Given the description of an element on the screen output the (x, y) to click on. 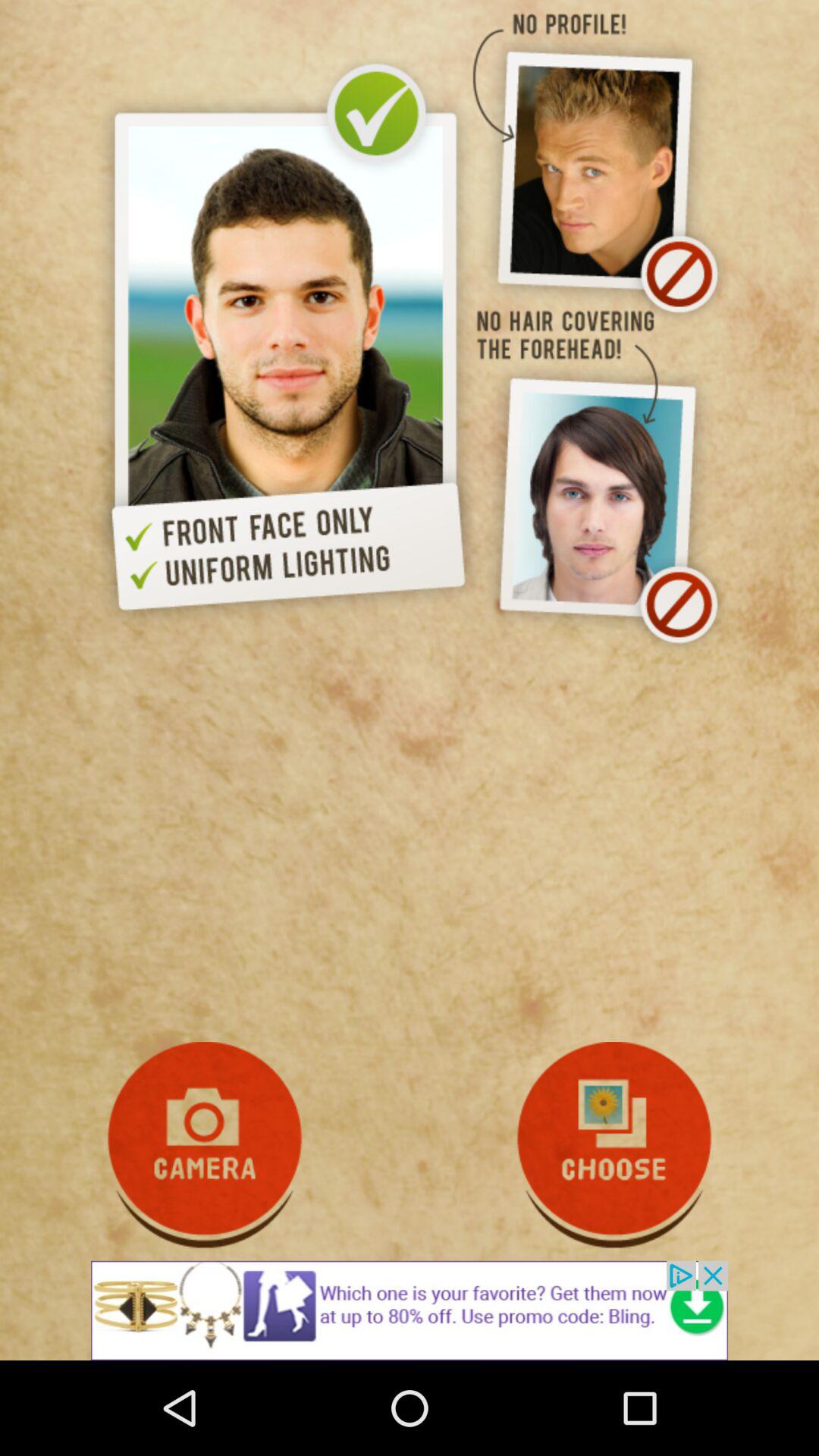
open camera (204, 1144)
